Given the description of an element on the screen output the (x, y) to click on. 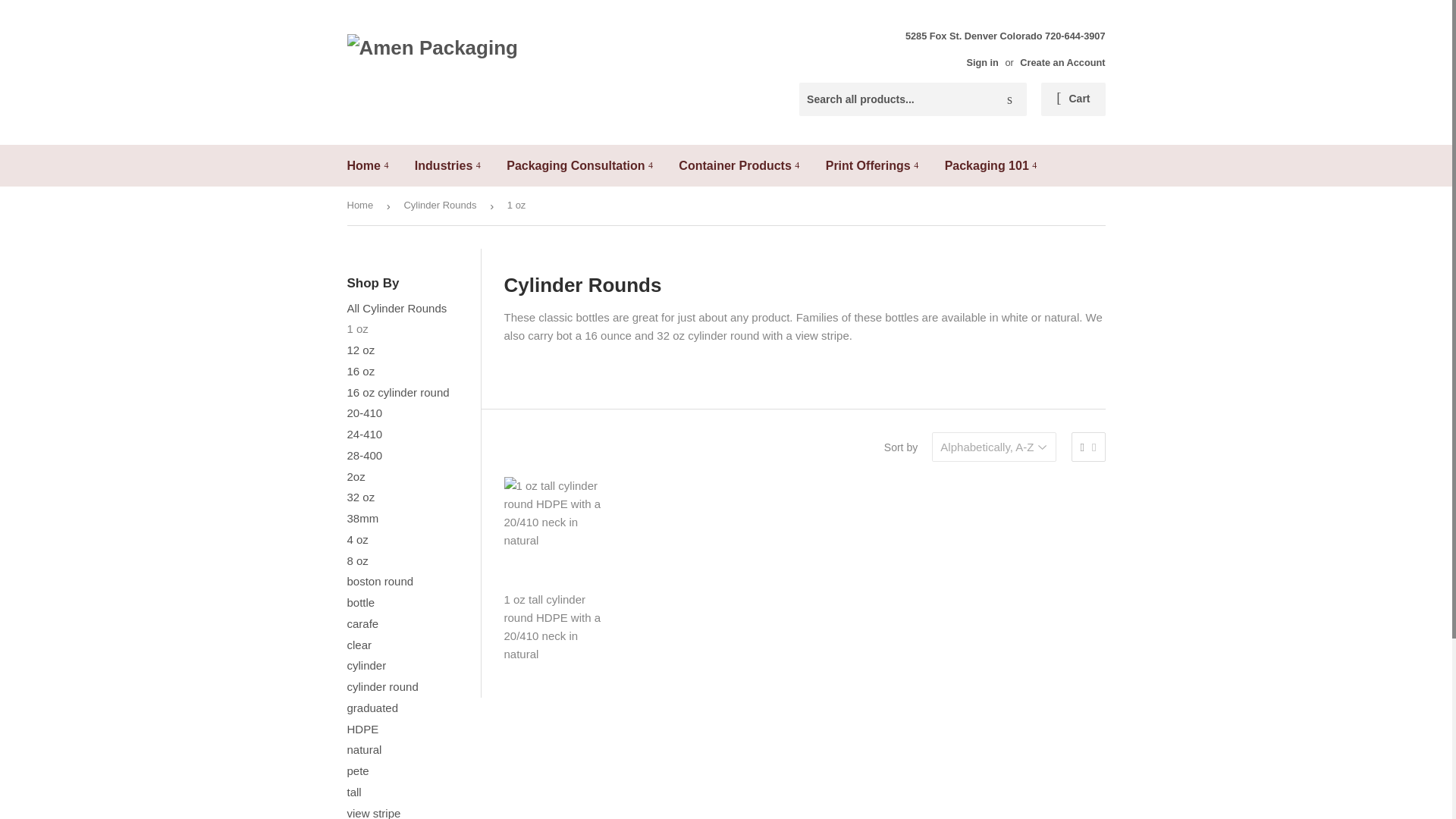
Show products matching tag cylinder round (383, 686)
Search (1009, 100)
Cart (1073, 99)
Show products matching tag bottle (361, 602)
Show products matching tag clear (359, 644)
Show products matching tag 28-400 (364, 454)
Show products matching tag carafe (362, 623)
Sign in (982, 61)
Show products matching tag 24-410 (364, 433)
Show products matching tag 12 oz (361, 349)
Show products matching tag 16 oz (361, 370)
Show products matching tag 38mm (362, 517)
Show products matching tag 16 oz cylinder round (398, 391)
Show products matching tag 20-410 (364, 412)
Show products matching tag 2oz (356, 476)
